Given the description of an element on the screen output the (x, y) to click on. 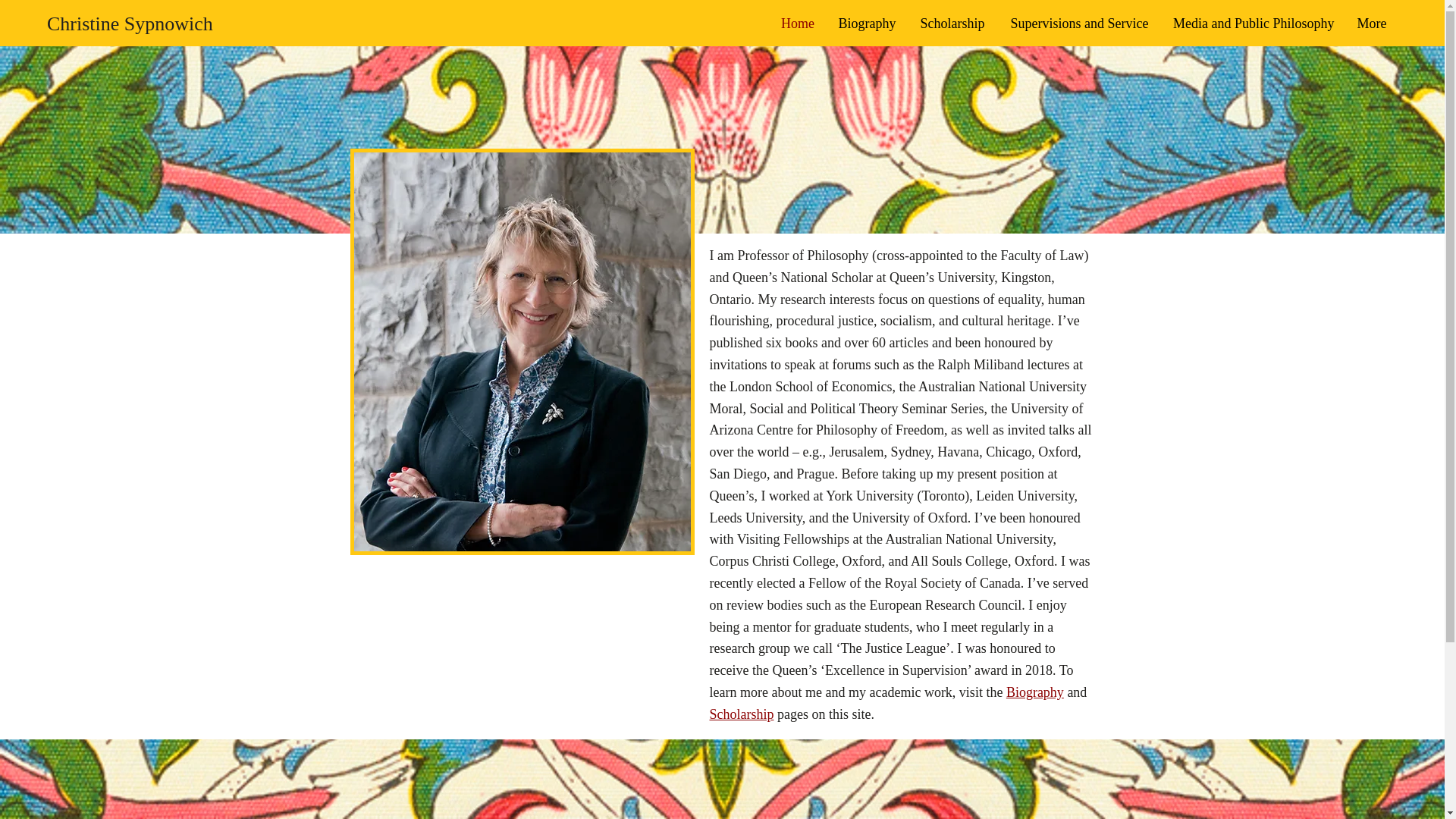
Scholarship (742, 713)
Scholarship (952, 23)
Supervisions and Service (1079, 23)
Biography (1035, 692)
Home (797, 23)
Christine Sypnowich (129, 24)
Biography (867, 23)
Media and Public Philosophy (1253, 23)
